Given the description of an element on the screen output the (x, y) to click on. 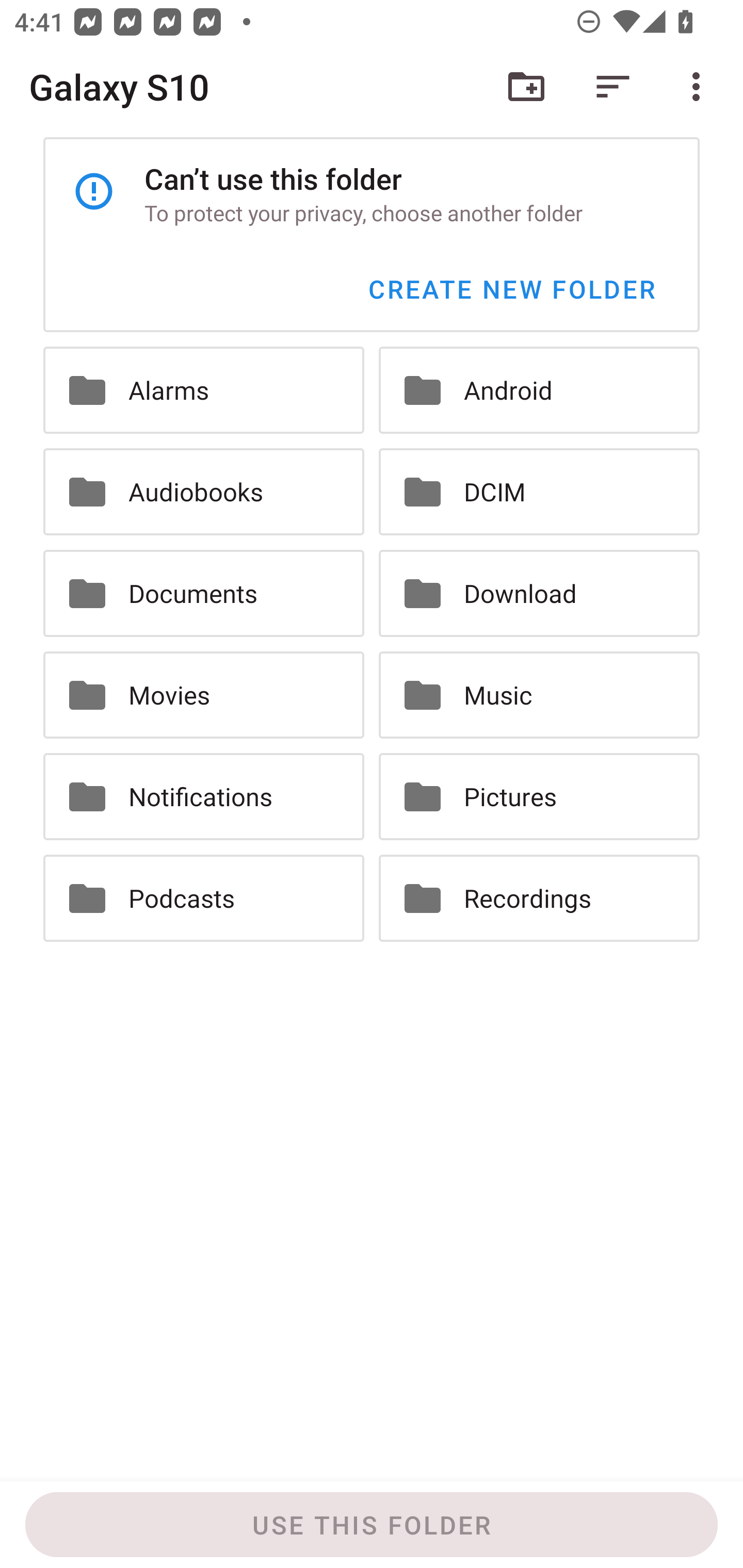
New folder (525, 86)
Sort by... (612, 86)
More options (699, 86)
CREATE NEW FOLDER (511, 289)
Alarms (203, 390)
Android (538, 390)
Audiobooks (203, 491)
DCIM (538, 491)
Documents (203, 593)
Download (538, 593)
Movies (203, 694)
Music (538, 694)
Notifications (203, 796)
Pictures (538, 796)
Podcasts (203, 898)
Recordings (538, 898)
USE THIS FOLDER (371, 1524)
